Given the description of an element on the screen output the (x, y) to click on. 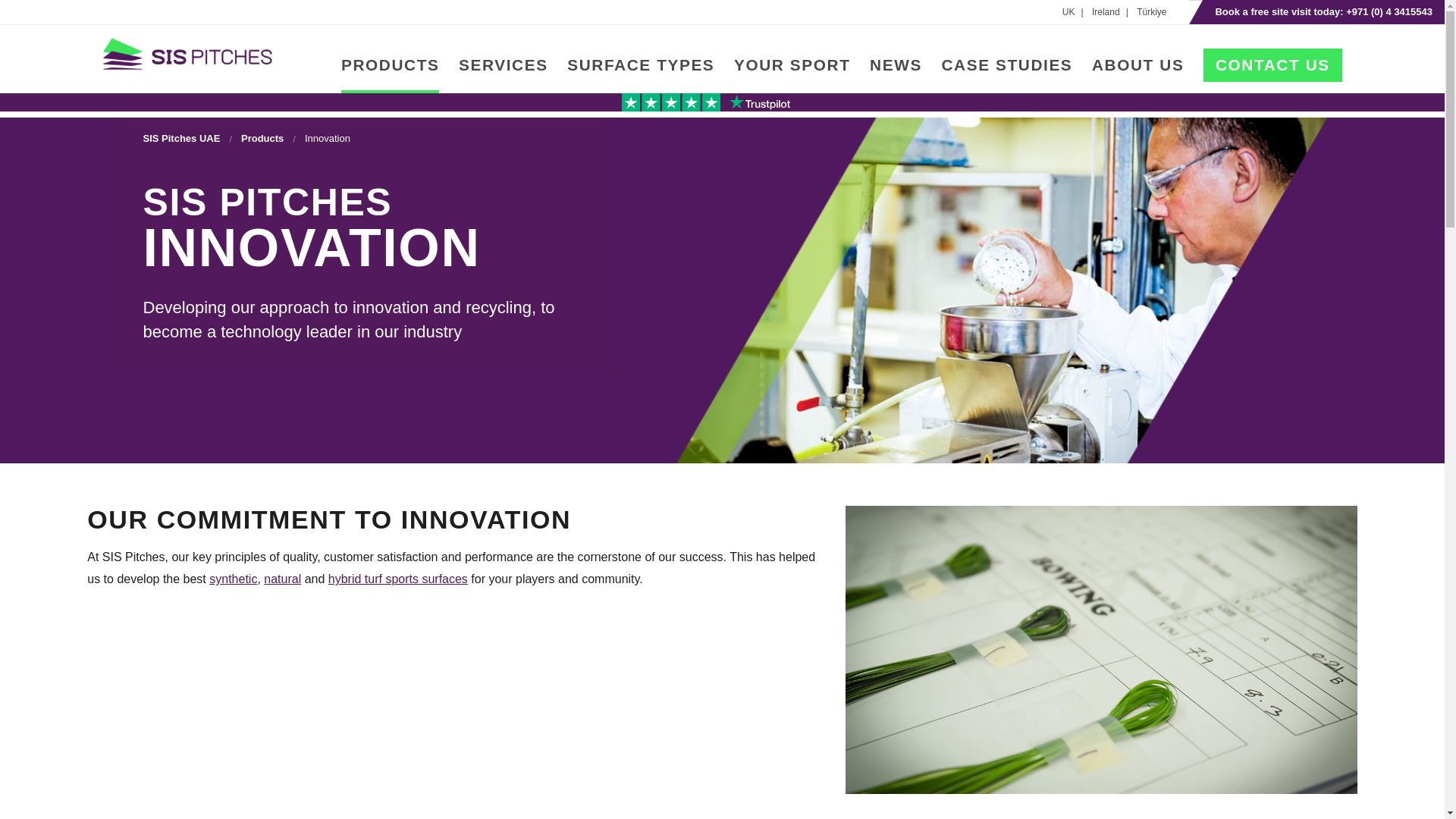
Go to Products. (262, 138)
SURFACE TYPES (640, 75)
SERVICES (503, 75)
Ireland (1113, 11)
Customer reviews powered by Trustpilot (705, 102)
Go to SIS Pitches UAE. (180, 138)
UK (1075, 11)
PRODUCTS (389, 75)
